Given the description of an element on the screen output the (x, y) to click on. 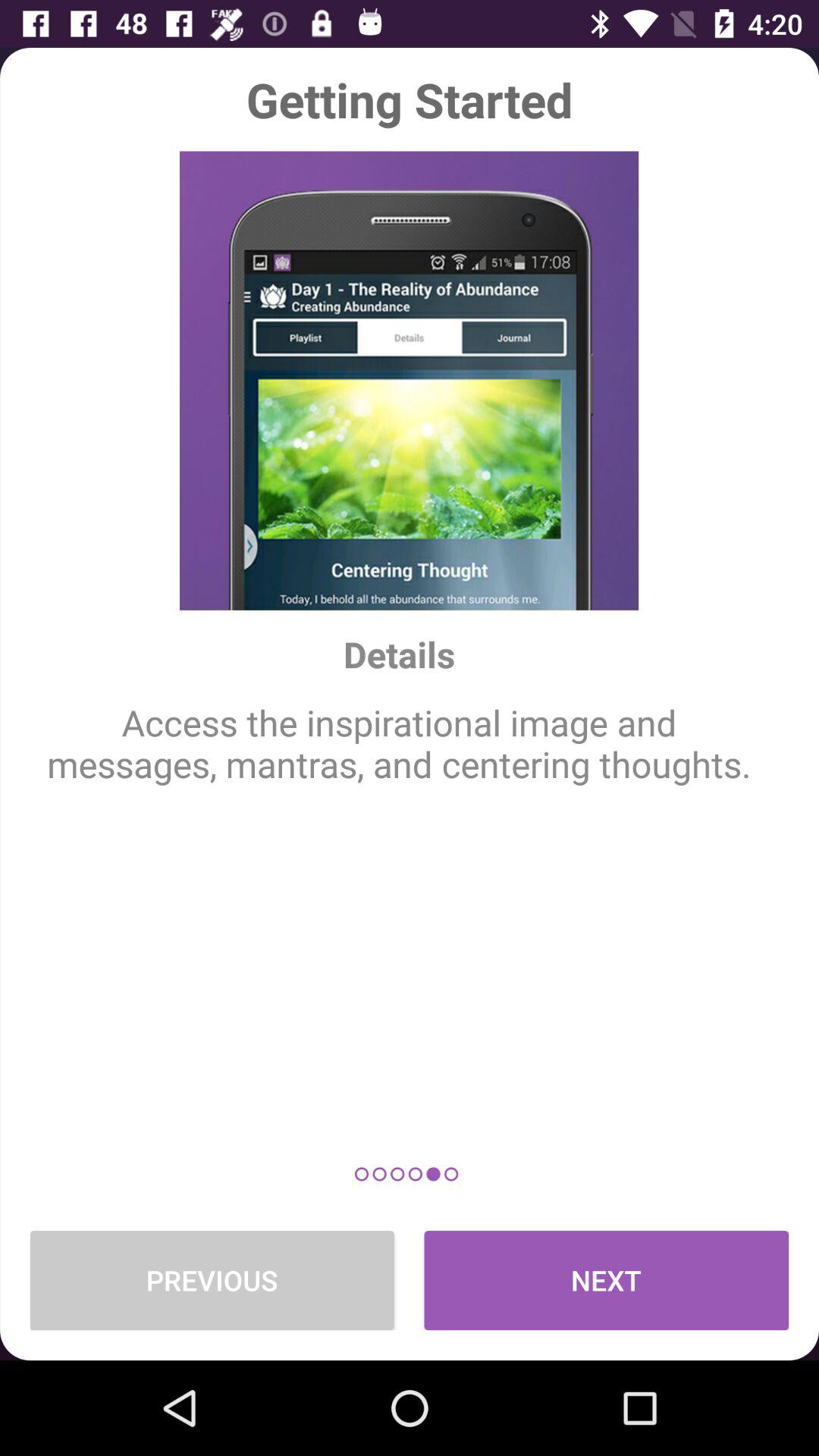
select the icon next to the next icon (212, 1280)
